Given the description of an element on the screen output the (x, y) to click on. 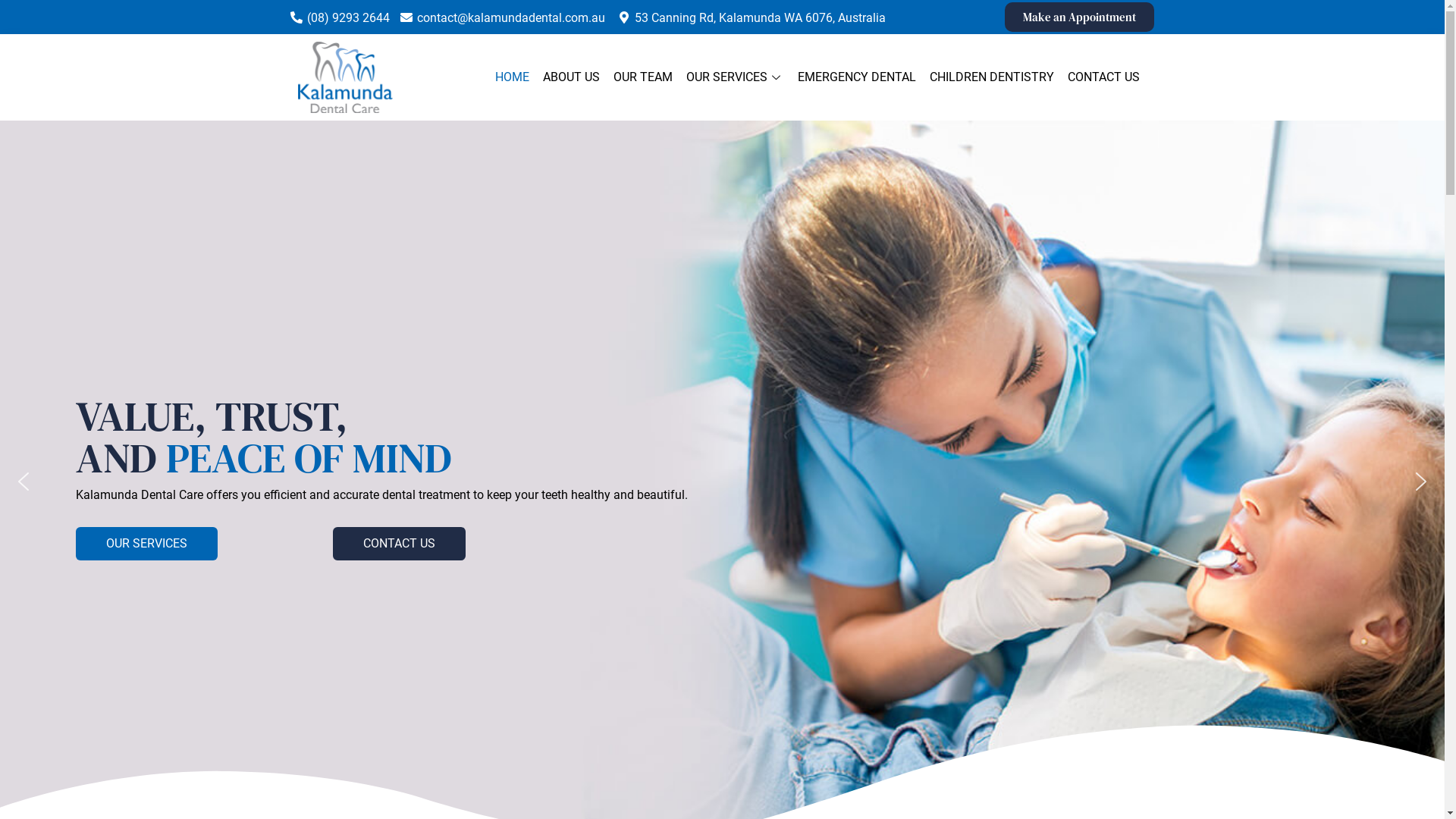
EMERGENCY DENTAL Element type: text (856, 77)
CONTACT US Element type: text (1103, 77)
ABOUT US Element type: text (571, 77)
contact@kalamundadental.com.au Element type: text (511, 17)
(08) 9293 2644 Element type: text (347, 17)
OUR SERVICES Element type: text (734, 77)
CHILDREN DENTISTRY Element type: text (991, 77)
OUR TEAM Element type: text (642, 77)
Make an Appointment Element type: text (1079, 16)
OUR SERVICES Element type: text (146, 543)
HOME Element type: text (512, 77)
CONTACT US Element type: text (398, 543)
